Given the description of an element on the screen output the (x, y) to click on. 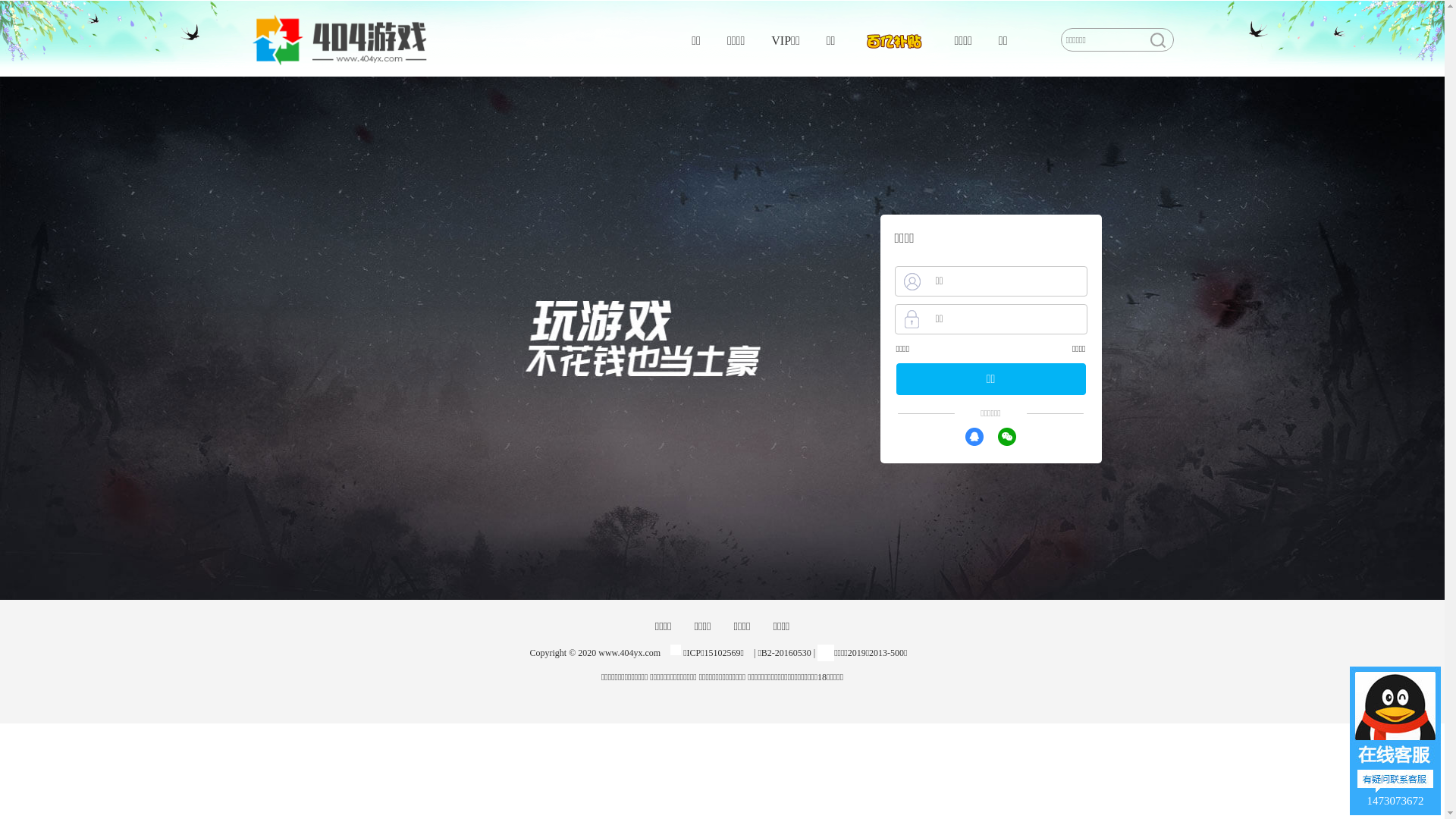
Search Element type: hover (1156, 39)
1473073672 Element type: text (1394, 740)
